Given the description of an element on the screen output the (x, y) to click on. 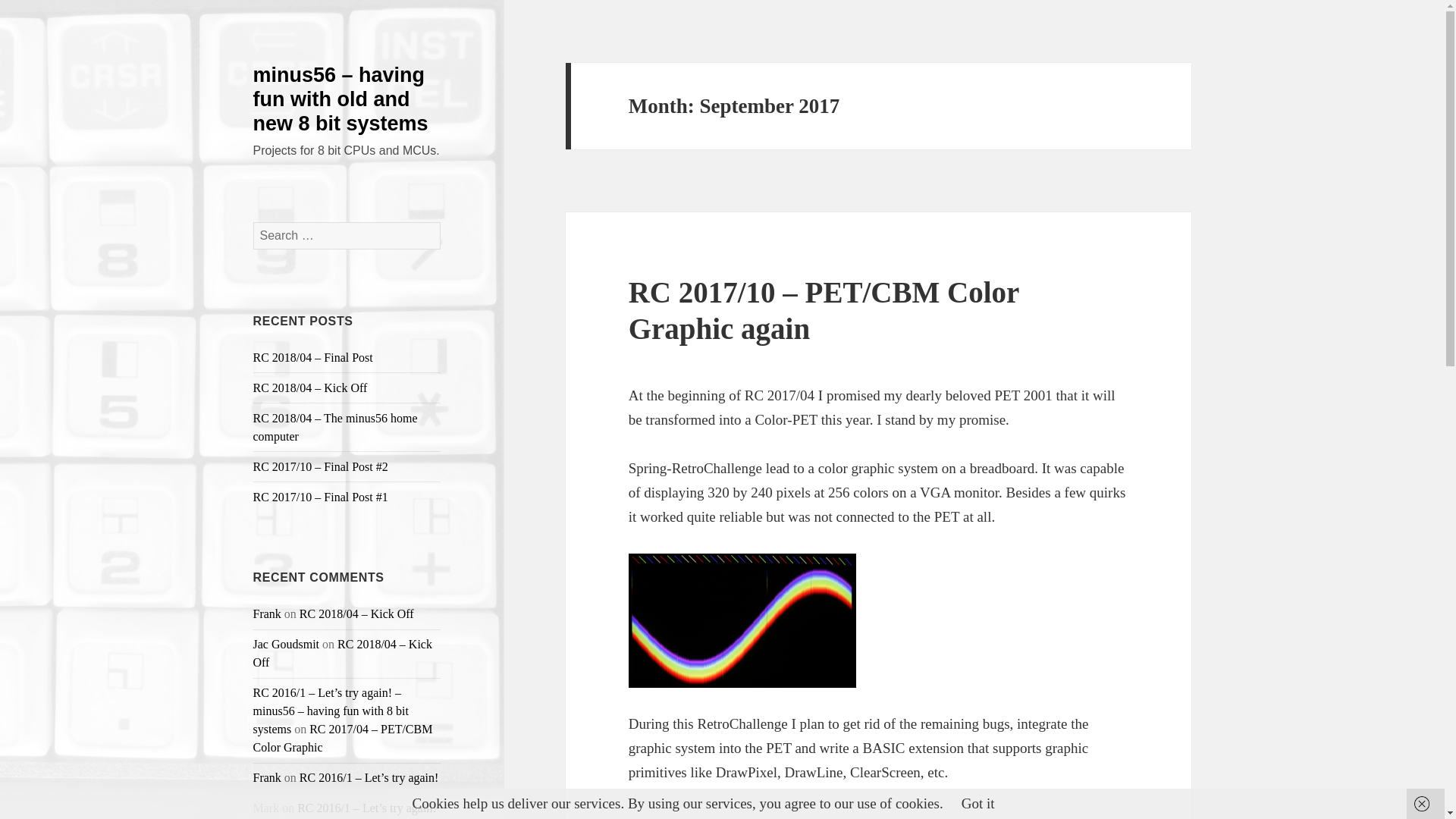
Frank (267, 613)
Frank (267, 777)
Jac Goudsmit (286, 644)
